Given the description of an element on the screen output the (x, y) to click on. 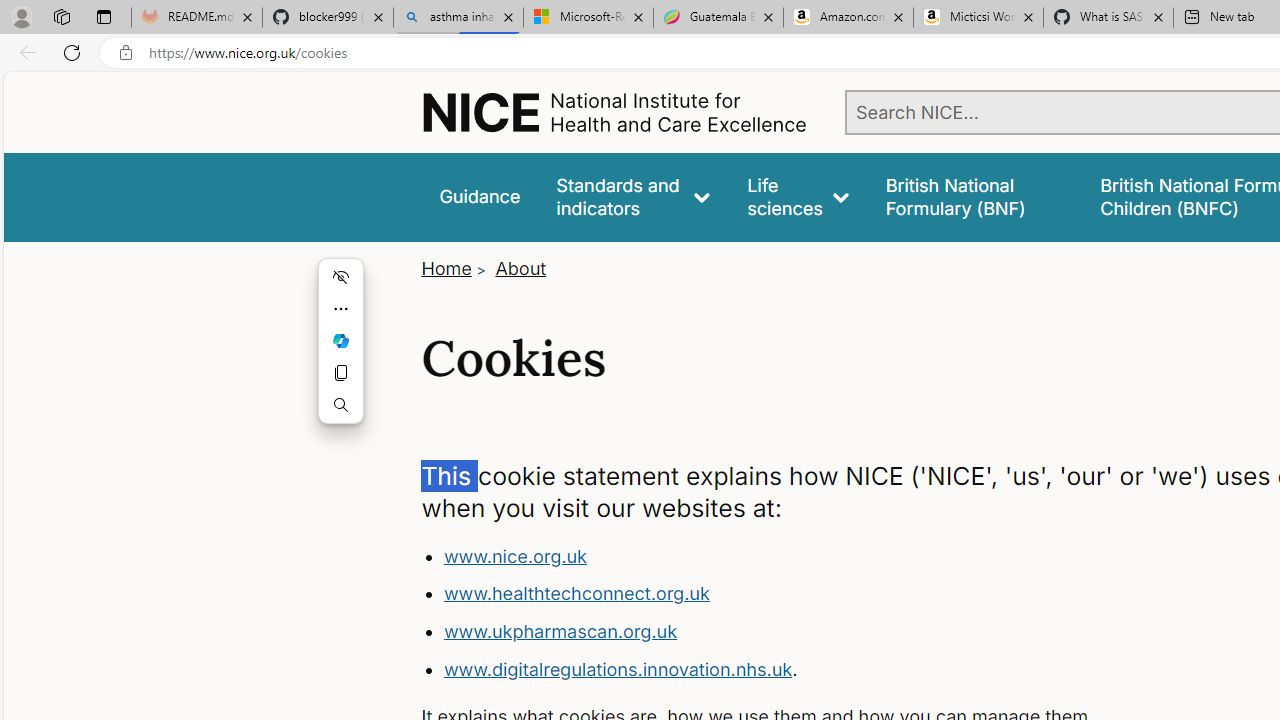
false (974, 196)
Home> (456, 268)
Hide menu (340, 276)
Life sciences (798, 196)
www.digitalregulations.innovation.nhs.uk. (818, 669)
More actions (340, 308)
www.nice.org.uk (514, 556)
asthma inhaler - Search (458, 17)
Life sciences (798, 196)
www.nice.org.uk (818, 556)
